Given the description of an element on the screen output the (x, y) to click on. 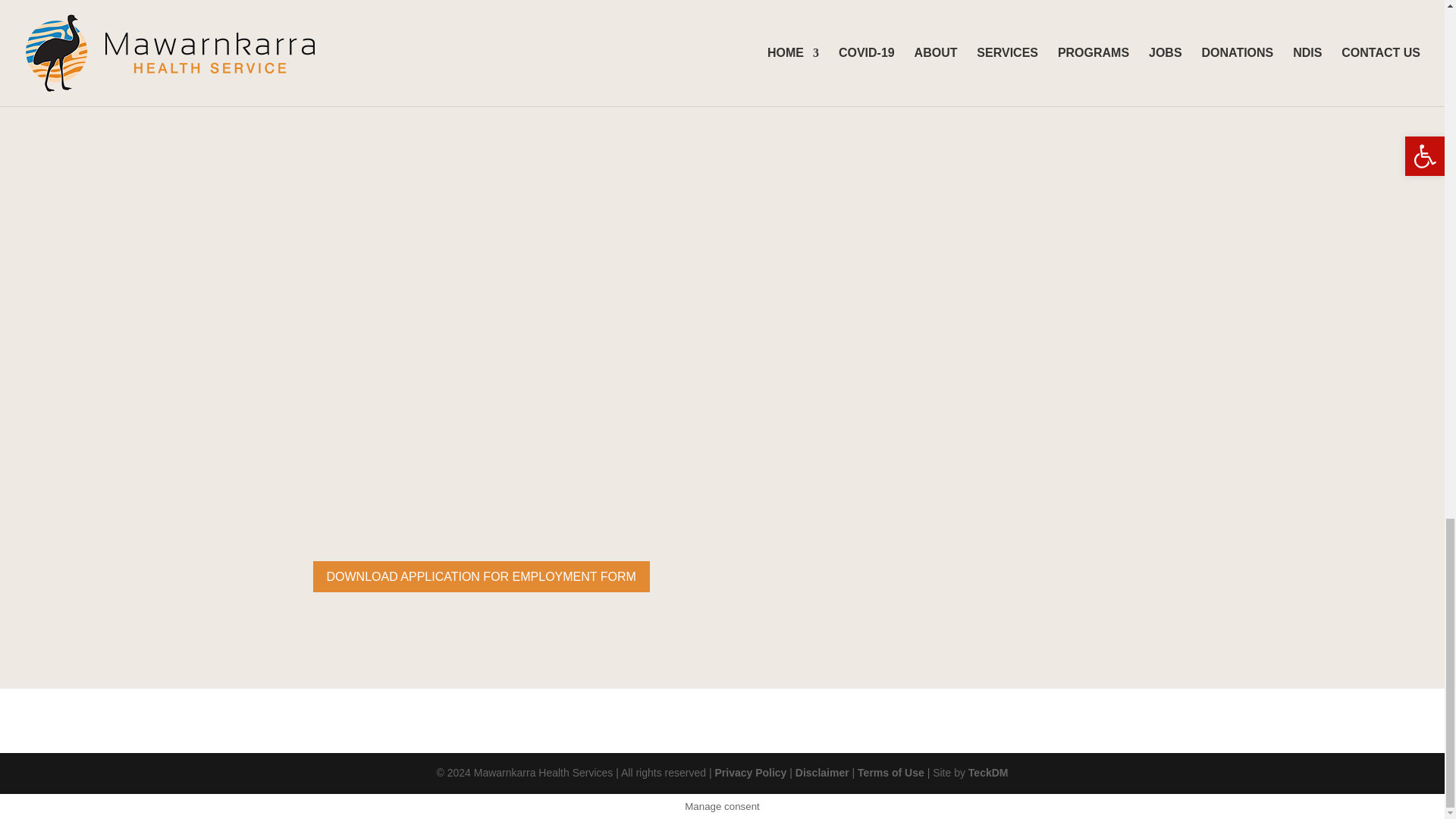
TeckDM (988, 772)
Privacy Policy (750, 772)
Disclaimer (821, 772)
Terms of Use (890, 772)
DOWNLOAD APPLICATION FOR EMPLOYMENT FORM (481, 576)
